Given the description of an element on the screen output the (x, y) to click on. 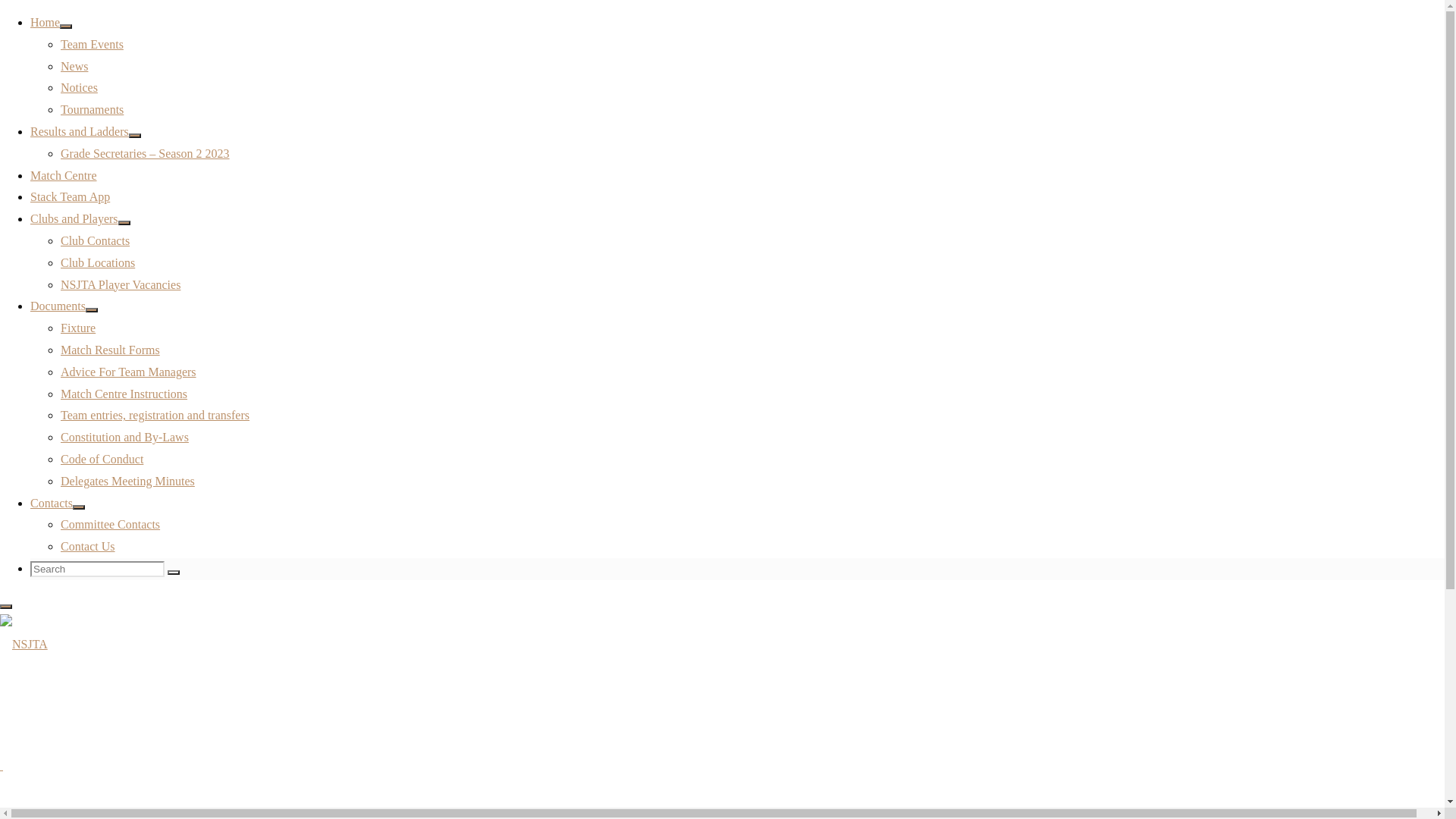
NSJTA Player Vacancies Element type: text (120, 284)
Documents Element type: text (57, 305)
Match Result Forms Element type: text (110, 349)
Home Element type: text (44, 21)
Contact Us Element type: text (87, 545)
Team entries, registration and transfers Element type: text (154, 414)
Skip to content Element type: text (5, 59)
ALICIA MOLIK CUP 2023 Element type: text (1294, 652)
News Element type: text (1239, 785)
Match Centre Element type: text (63, 175)
Constitution and By-Laws Element type: text (124, 436)
Search Element type: text (173, 572)
Advice For Team Managers Element type: text (128, 371)
Contacts Element type: text (51, 502)
225 Marathon Blvd, Craigieburn VIC 3064 Element type: text (227, 523)
Tournaments Element type: text (91, 109)
Committee Contacts Element type: text (110, 523)
  Element type: text (1, 765)
Daphne Fancutt Shield 2024 Element type: text (1295, 608)
NSJTA Element type: hover (23, 643)
Code of Conduct Element type: text (101, 458)
Royal Park TC carpark closed Element type: text (1299, 674)
Events Element type: text (1242, 763)
News Element type: text (73, 65)
Notices Element type: text (78, 87)
Club Contacts Element type: text (94, 240)
Season 2 2023 Element type: text (1261, 696)
Stack Team App Element type: text (69, 196)
Fixture Element type: text (77, 327)
Team Events Element type: text (91, 43)
Delegates Meeting Minutes Element type: text (127, 480)
Clubs and Players Element type: text (74, 218)
https Element type: text (179, 558)
Match Centre Instructions Element type: text (123, 393)
://humetennis.com.au/ Element type: text (244, 558)
Club Locations Element type: text (97, 262)
Grand Final Draw Element type: text (1270, 630)
Clubs and Venues Element type: text (165, 229)
Results and Ladders Element type: text (79, 131)
